Given the description of an element on the screen output the (x, y) to click on. 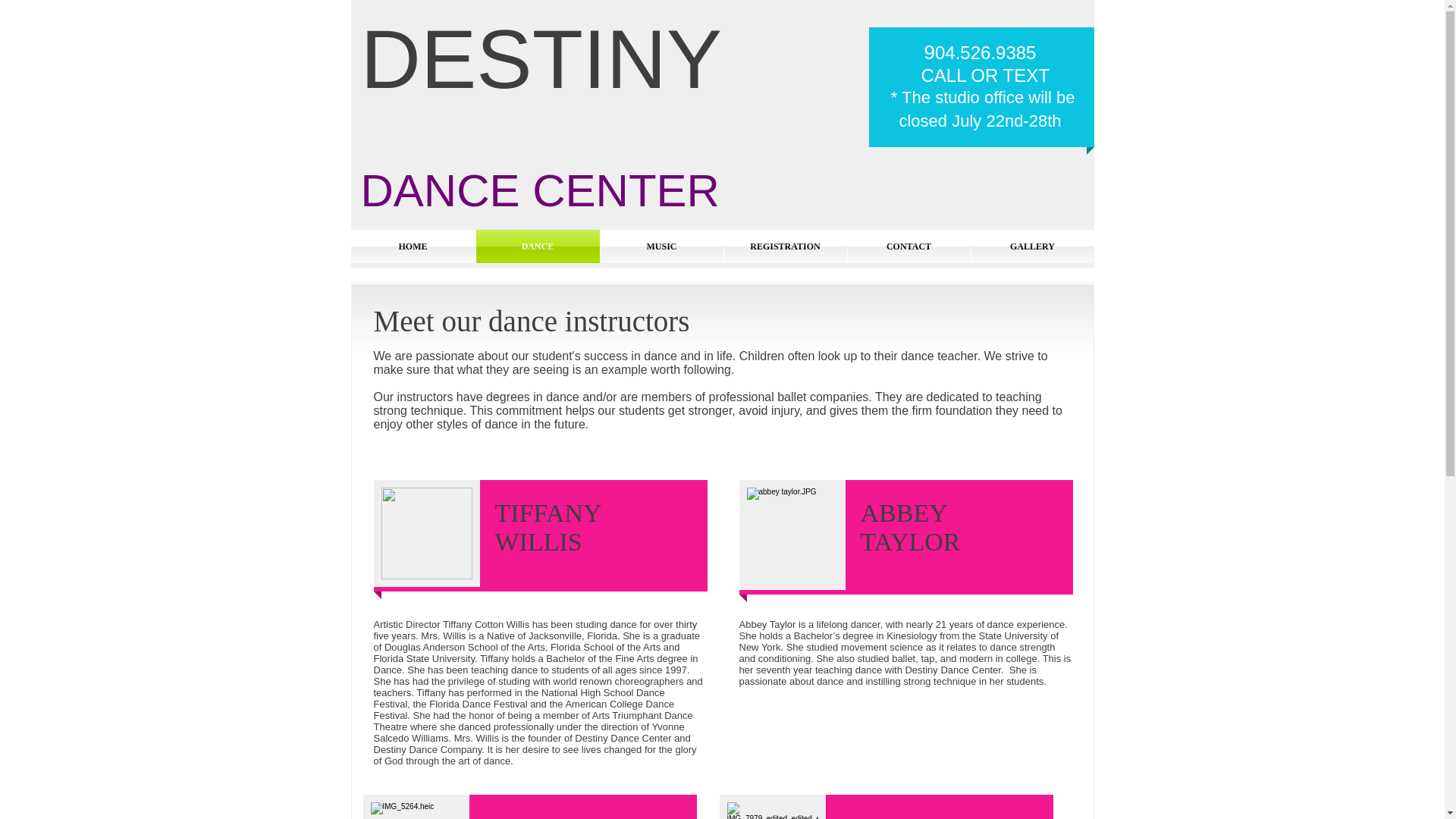
DANCE (537, 246)
HOME (412, 246)
GALLERY (1032, 246)
photo-5.JPG (415, 806)
CONTACT (909, 246)
MUSIC (661, 246)
c6.jpg 2015-1-13-15:5:54 (425, 533)
REGISTRATION (784, 246)
